Given the description of an element on the screen output the (x, y) to click on. 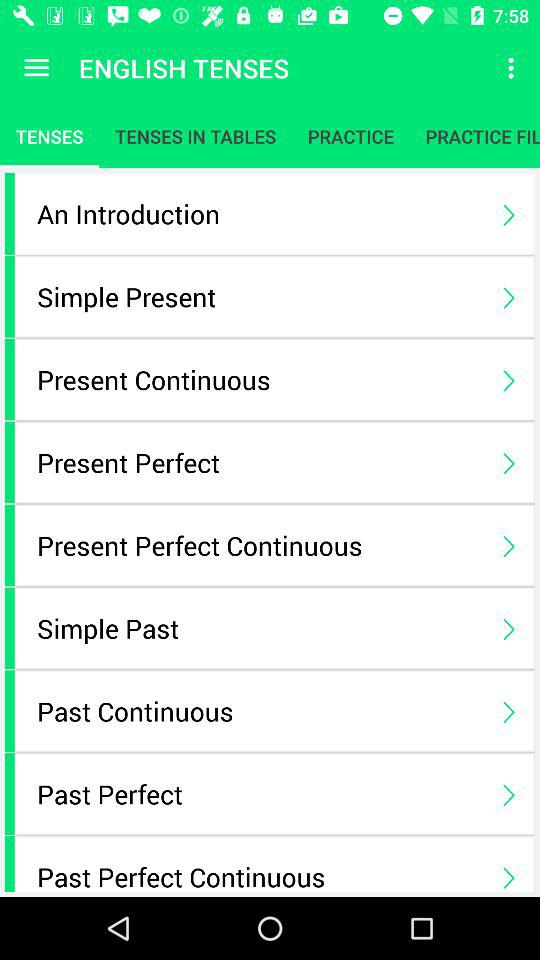
launch the icon above the present continuous (259, 296)
